Given the description of an element on the screen output the (x, y) to click on. 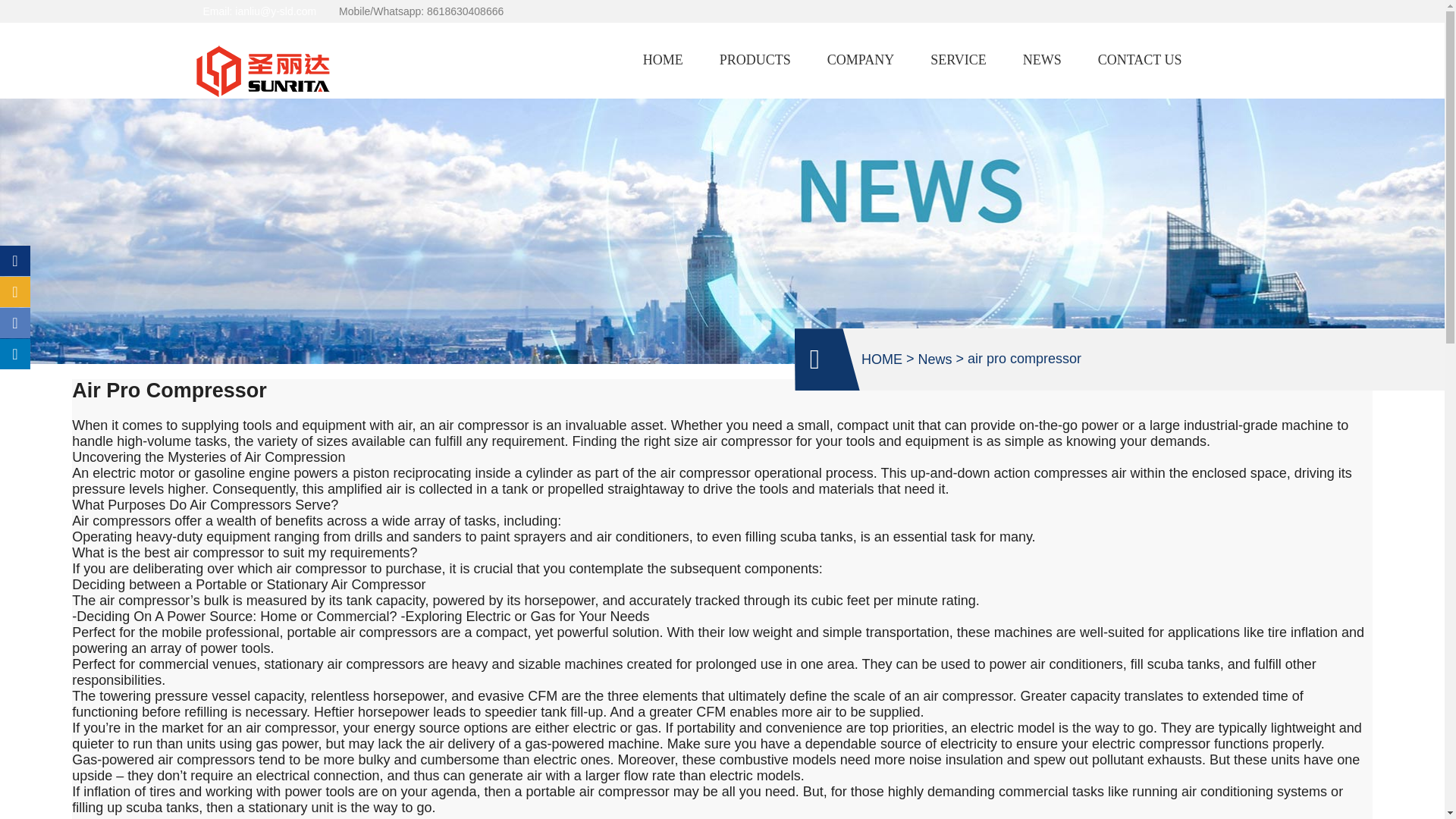
HOME (881, 359)
COMPANY (860, 59)
News (934, 359)
PRODUCTS (755, 59)
logo (266, 70)
HOME (662, 59)
SERVICE (958, 59)
NEWS (1042, 59)
CONTACT US (1139, 59)
